Given the description of an element on the screen output the (x, y) to click on. 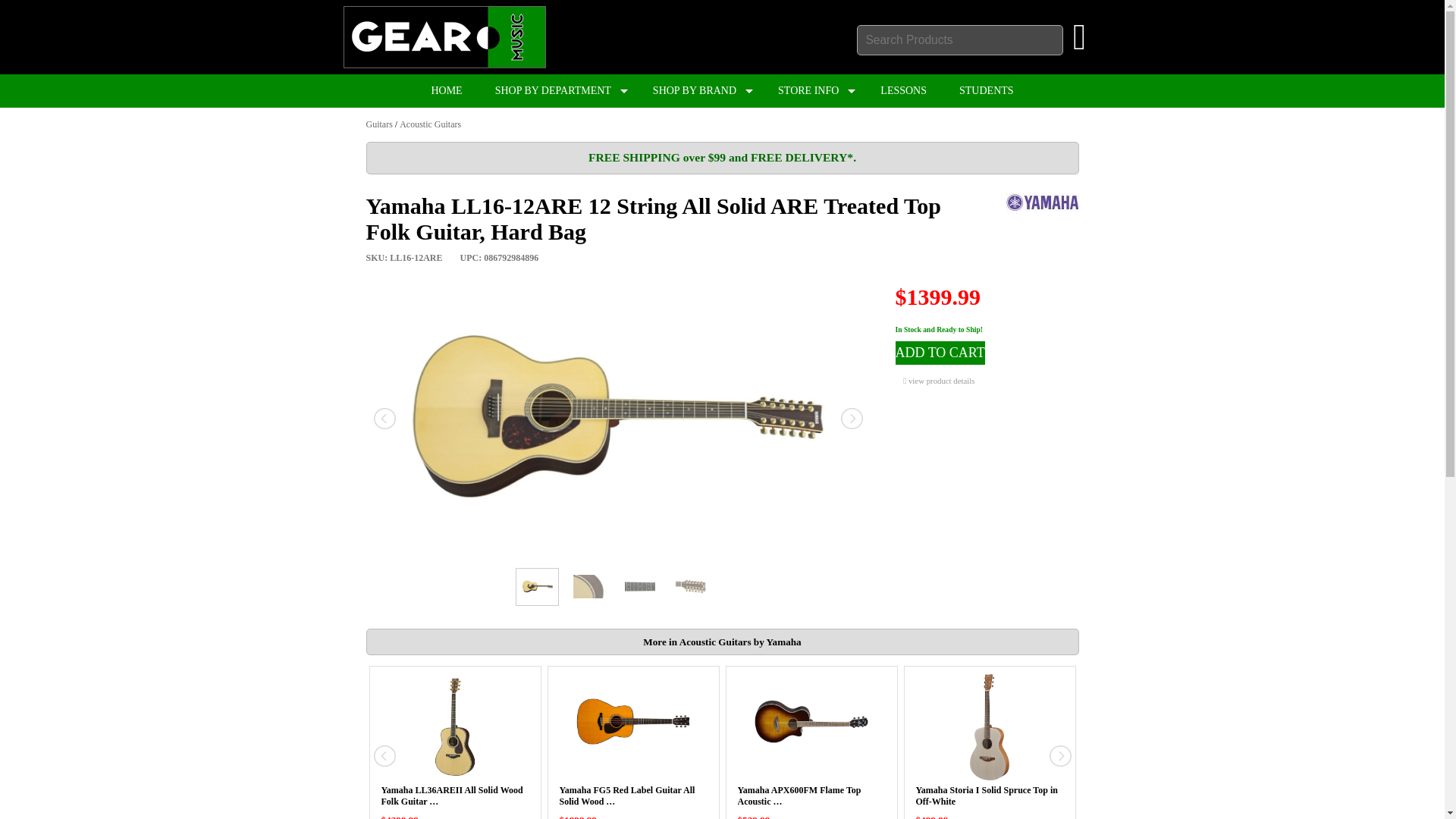
Home Page (443, 64)
HOME (445, 90)
SHOP BY DEPARTMENT (557, 90)
